Given the description of an element on the screen output the (x, y) to click on. 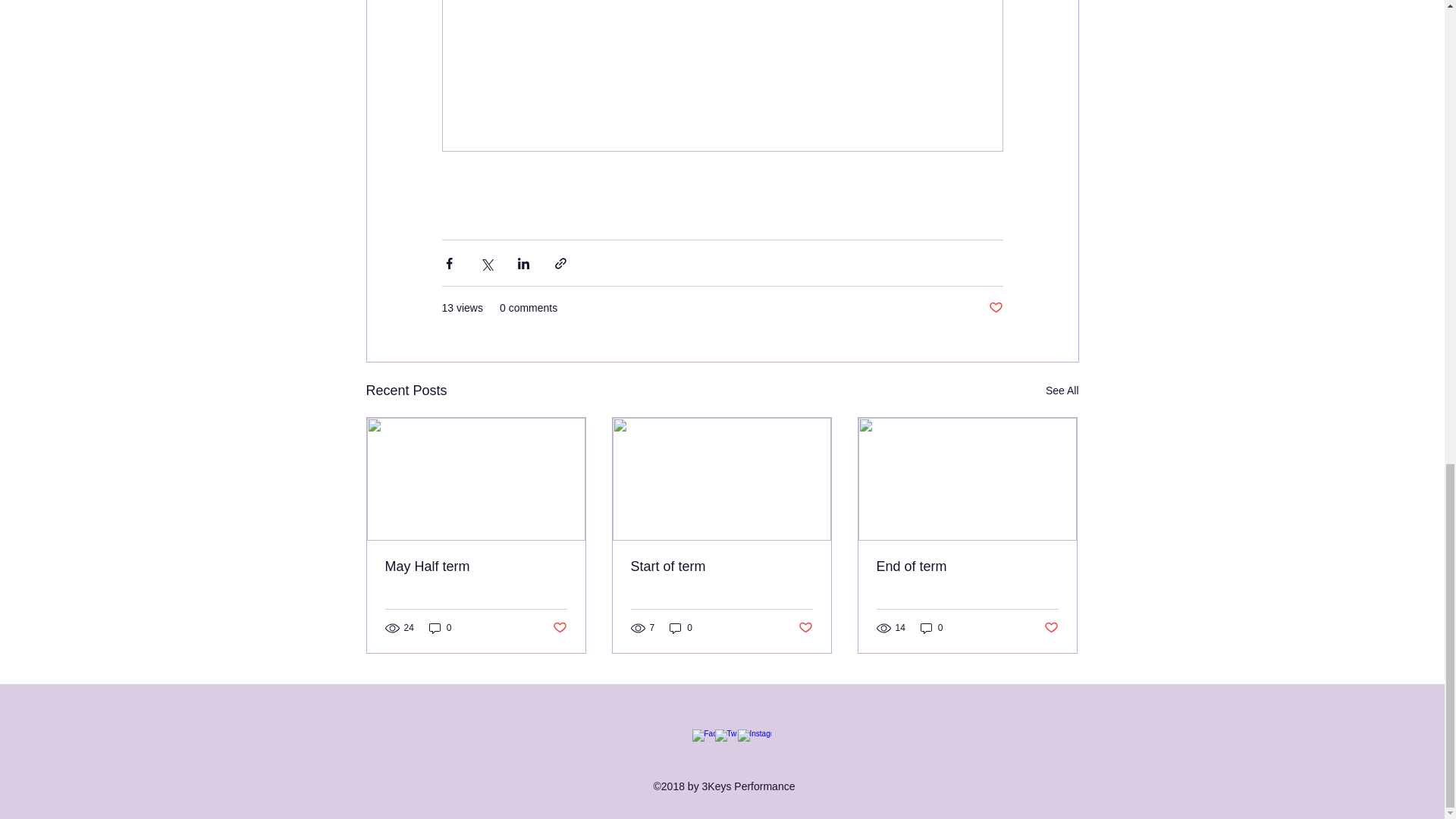
Post not marked as liked (995, 308)
May Half term (476, 566)
Post not marked as liked (804, 627)
See All (1061, 391)
Post not marked as liked (558, 627)
Start of term (721, 566)
0 (681, 627)
0 (440, 627)
